Given the description of an element on the screen output the (x, y) to click on. 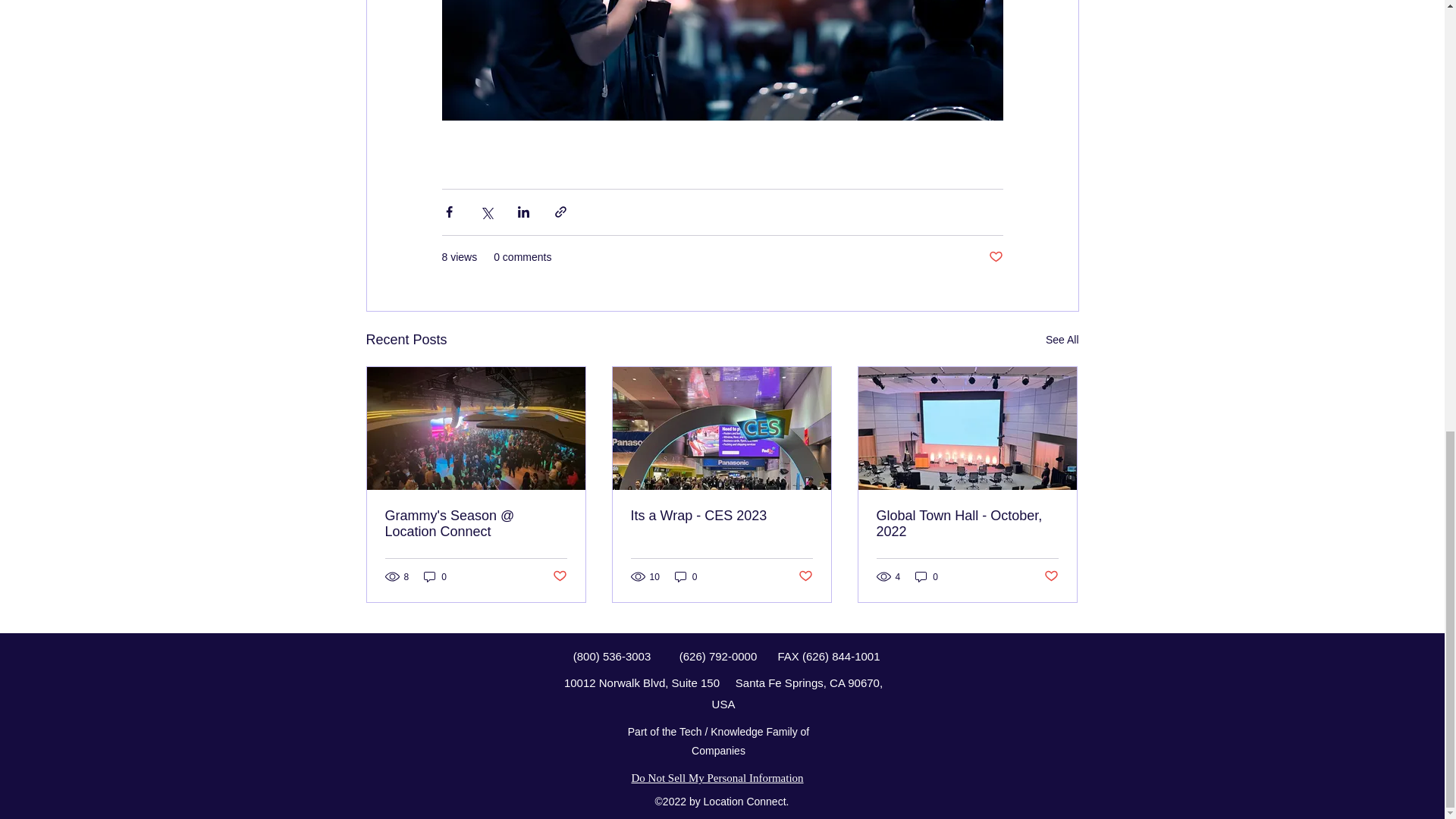
Do Not Sell My Personal Information (716, 778)
Post not marked as liked (804, 576)
0 (685, 576)
0 (435, 576)
Post not marked as liked (995, 257)
0 (926, 576)
See All (1061, 339)
Post not marked as liked (558, 576)
Global Town Hall - October, 2022 (967, 522)
Post not marked as liked (1050, 576)
